Given the description of an element on the screen output the (x, y) to click on. 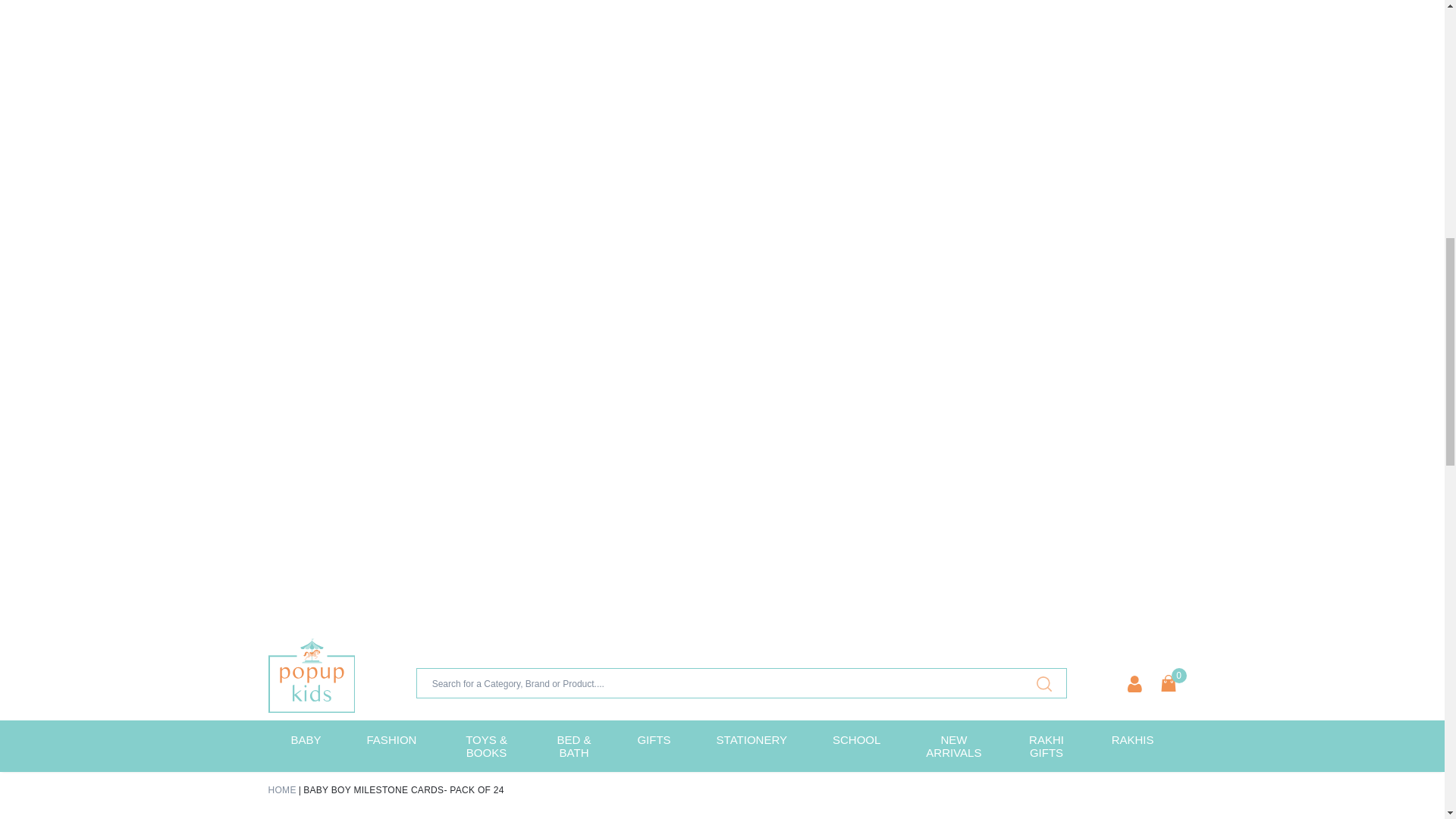
Cart Icon (1168, 682)
0 (1168, 682)
Logo (311, 675)
